Given the description of an element on the screen output the (x, y) to click on. 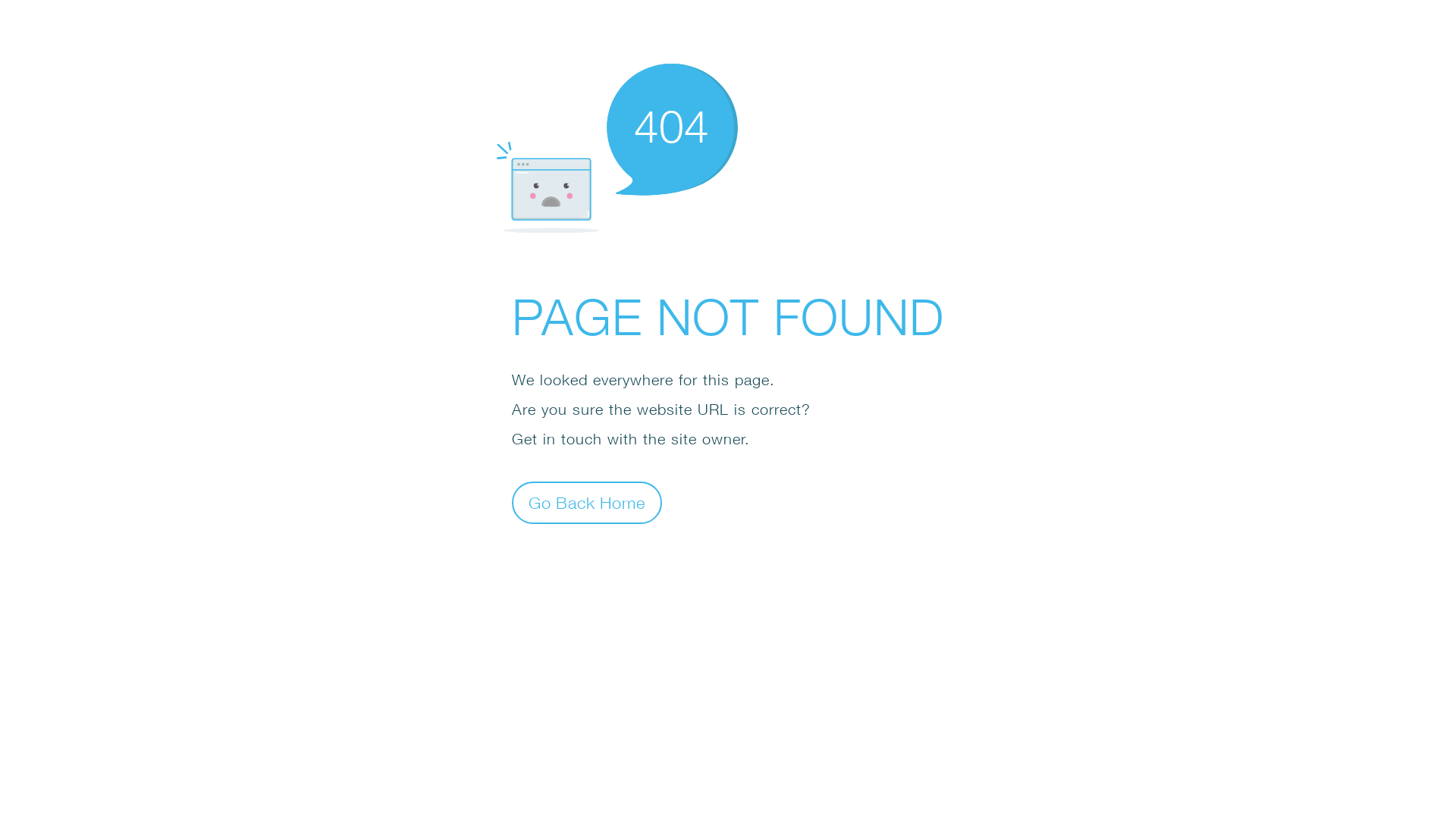
Go Back Home Element type: text (586, 502)
